Given the description of an element on the screen output the (x, y) to click on. 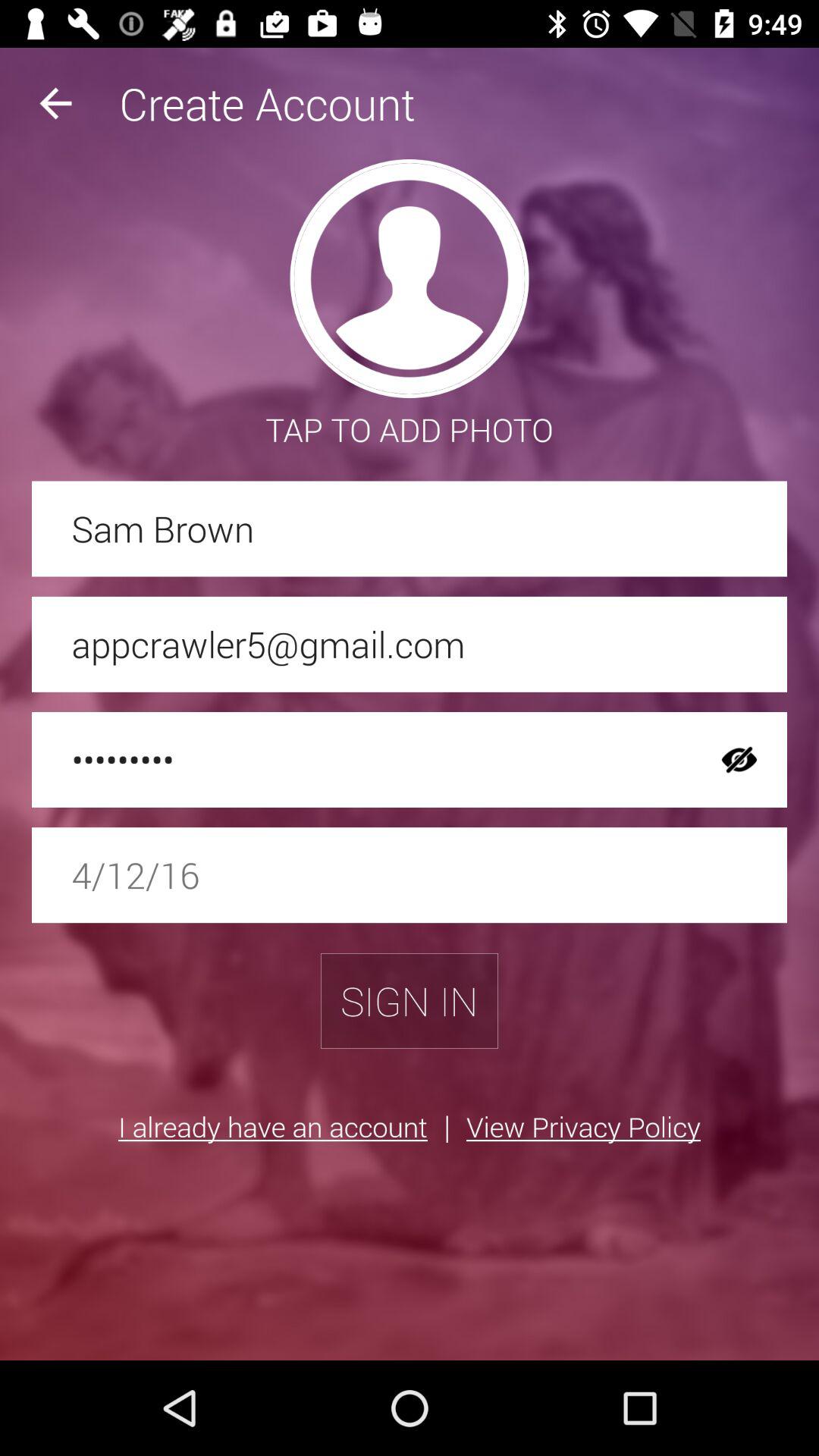
swipe to appcrawler5@gmail.com (409, 644)
